Given the description of an element on the screen output the (x, y) to click on. 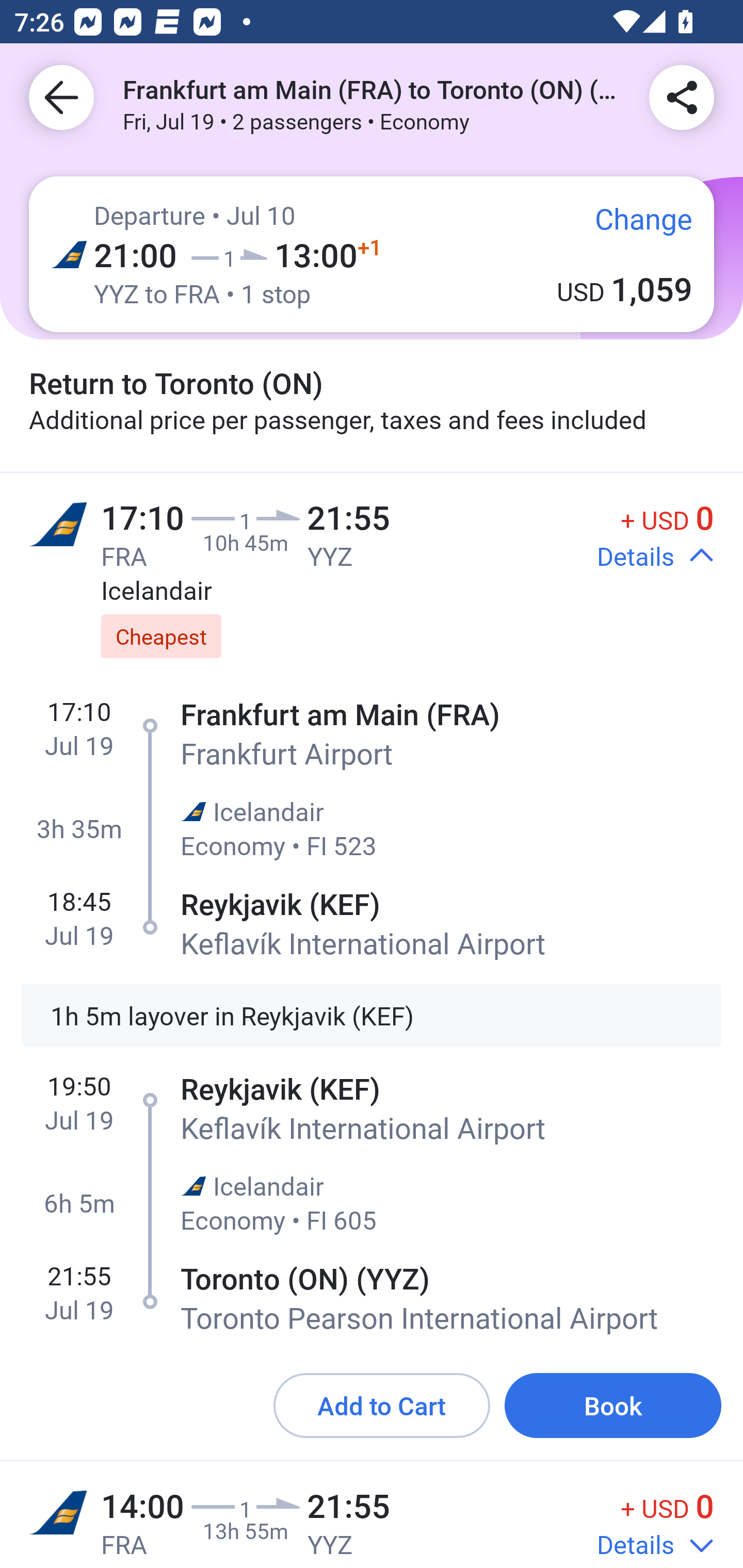
Change (629, 225)
Add to Cart (381, 1405)
Book (612, 1405)
